Given the description of an element on the screen output the (x, y) to click on. 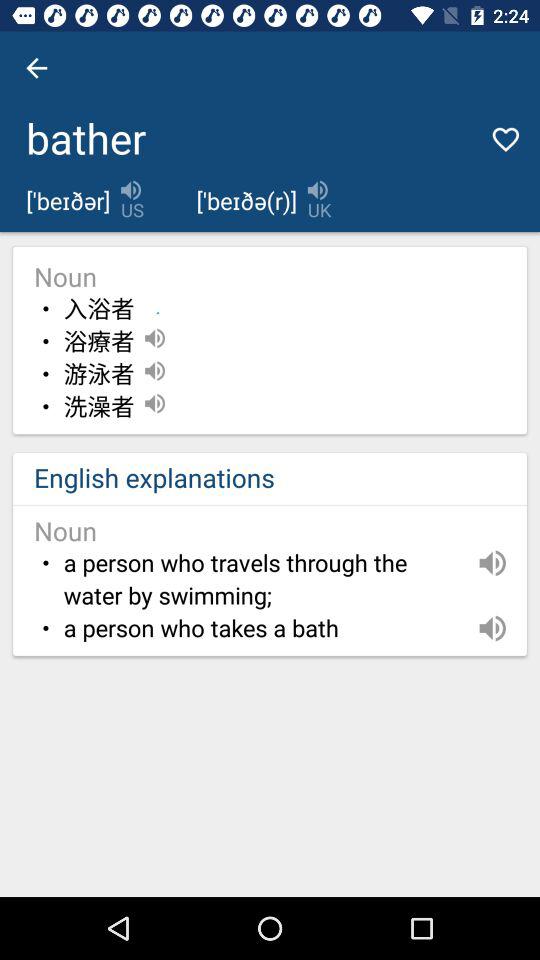
select the icon above the english explanations icon (98, 407)
